Given the description of an element on the screen output the (x, y) to click on. 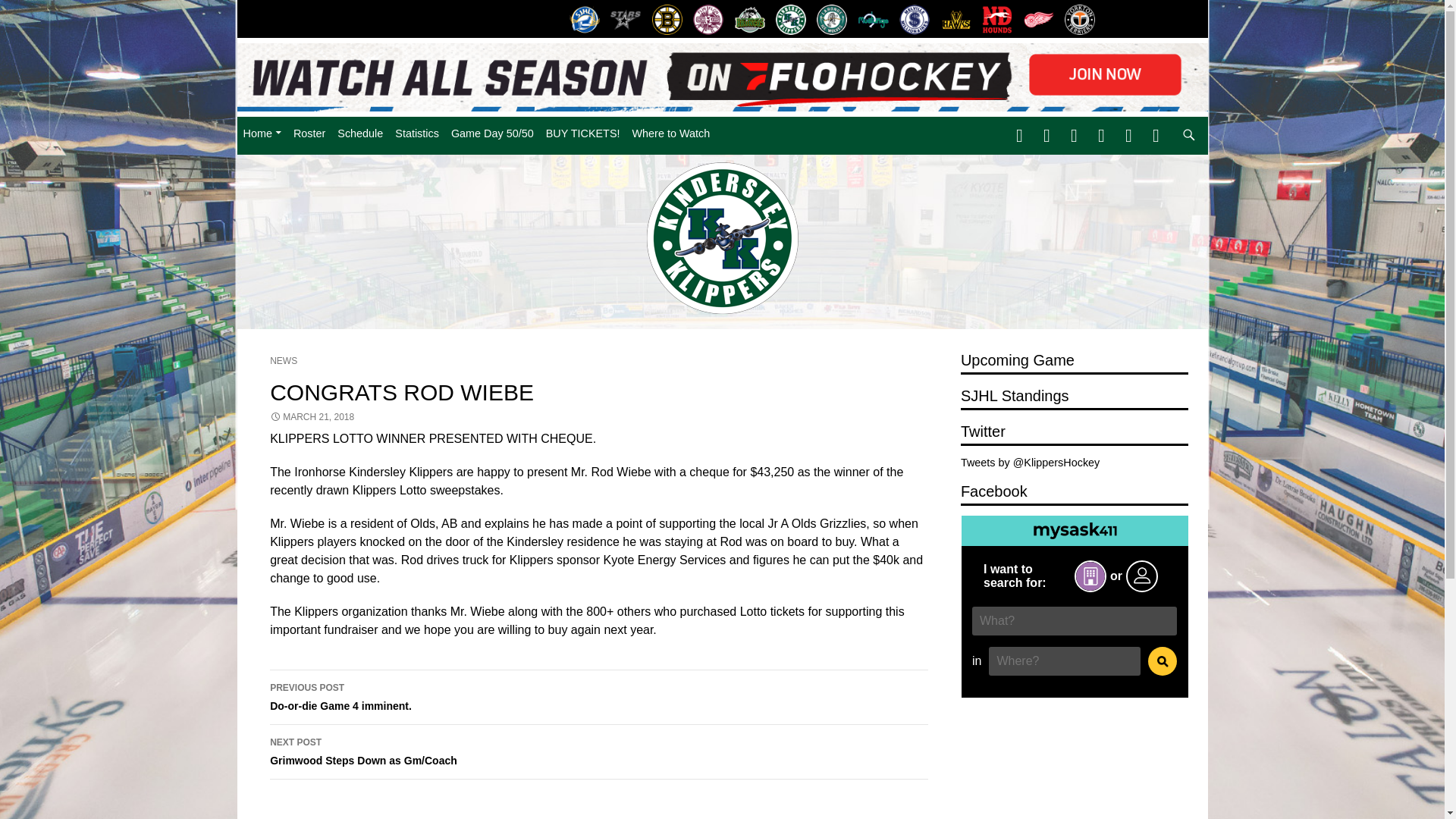
Statistics (416, 133)
La Ronge Ice Wolves (831, 19)
Kindersley Klippers (790, 19)
Where to Watch (671, 133)
Nipawin Hawks (956, 19)
Melfort Mustangs (873, 19)
Yorkton Terriers (1080, 19)
Schedule (359, 133)
Notre Dame Hounds (997, 19)
Estevan Bruins (666, 19)
BUY TICKETS! (583, 133)
Melville Millionaires (914, 19)
Battlefords North Stars (626, 19)
Flin Flon Bombers (707, 19)
